Given the description of an element on the screen output the (x, y) to click on. 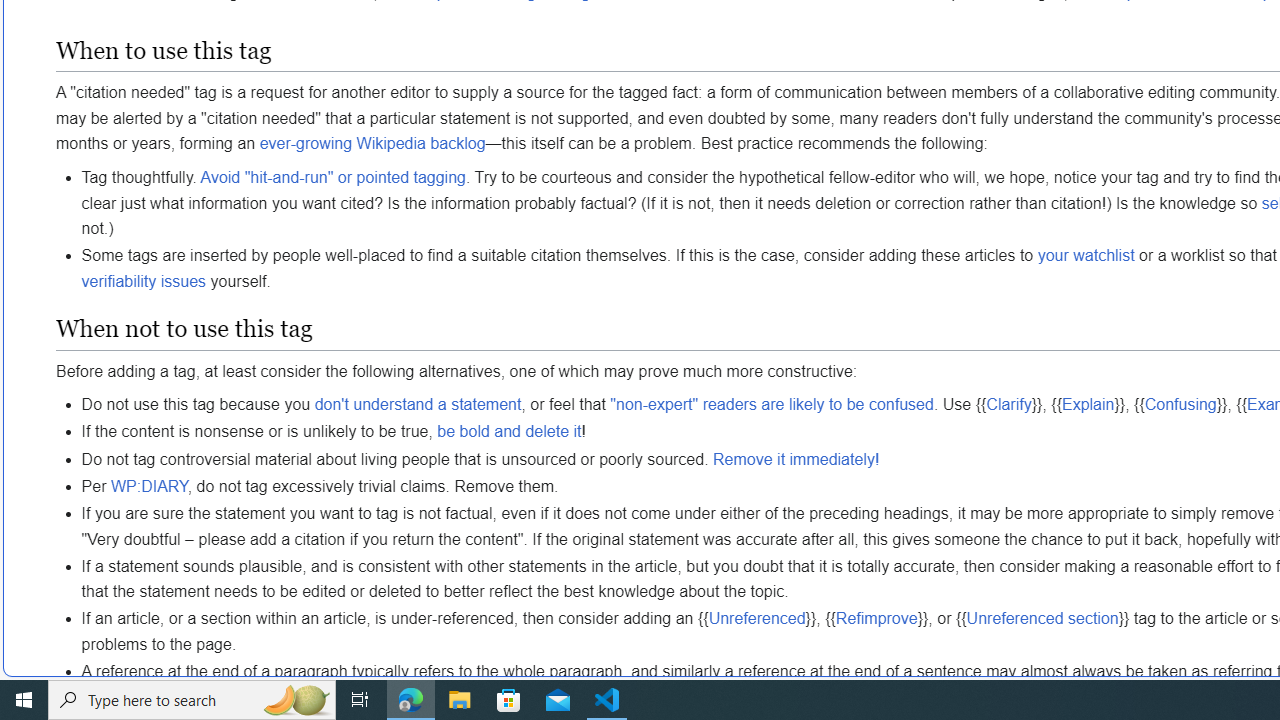
Unreferenced section (1042, 618)
your watchlist (1085, 255)
verifiability issues (143, 281)
Confusing (1180, 404)
be bold and delete it (509, 431)
"non-expert" readers are likely to be confused (772, 404)
Clarify (1008, 404)
Refimprove (875, 618)
WP:DIARY (149, 485)
don't understand a statement (417, 404)
Explain (1087, 404)
Remove it immediately! (796, 459)
Unreferenced (756, 618)
Avoid "hit-and-run" or pointed tagging (332, 176)
